Given the description of an element on the screen output the (x, y) to click on. 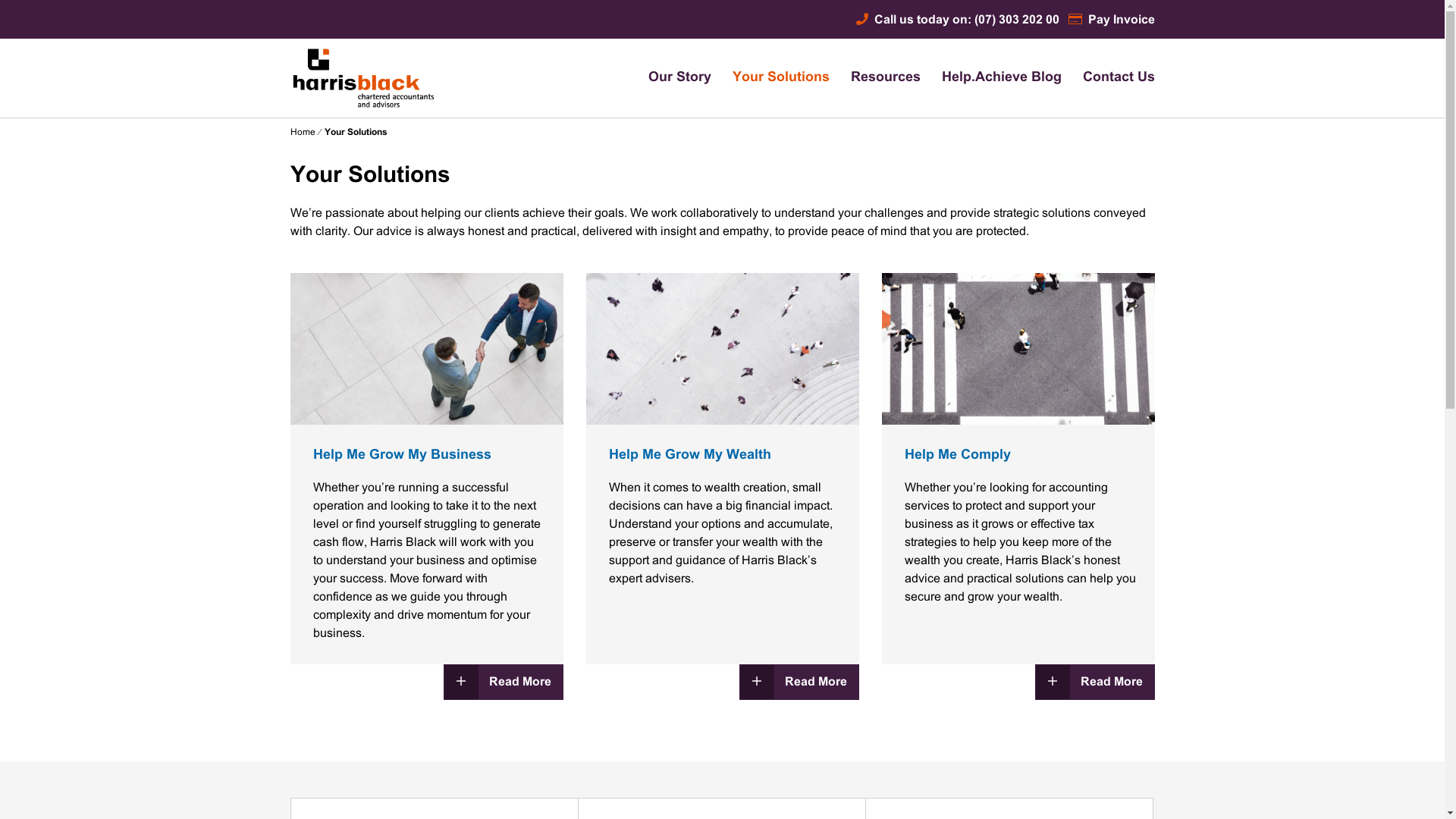
Contact Us Element type: text (1118, 77)
Help Me Grow My Business Element type: text (401, 454)
Read More Element type: text (502, 681)
Call us today on: (07) 303 202 00 Element type: text (956, 19)
Harris Black Element type: text (342, 153)
Pay Invoice Element type: text (1110, 19)
Your Solutions Element type: text (780, 77)
Home Element type: text (301, 132)
Read More Element type: text (798, 681)
Help Me Grow My Wealth Element type: text (689, 454)
Our Story Element type: text (678, 77)
Help.Achieve Blog Element type: text (1001, 77)
Read More Element type: text (1094, 681)
Help Me Comply Element type: text (956, 454)
Resources Element type: text (885, 77)
